Given the description of an element on the screen output the (x, y) to click on. 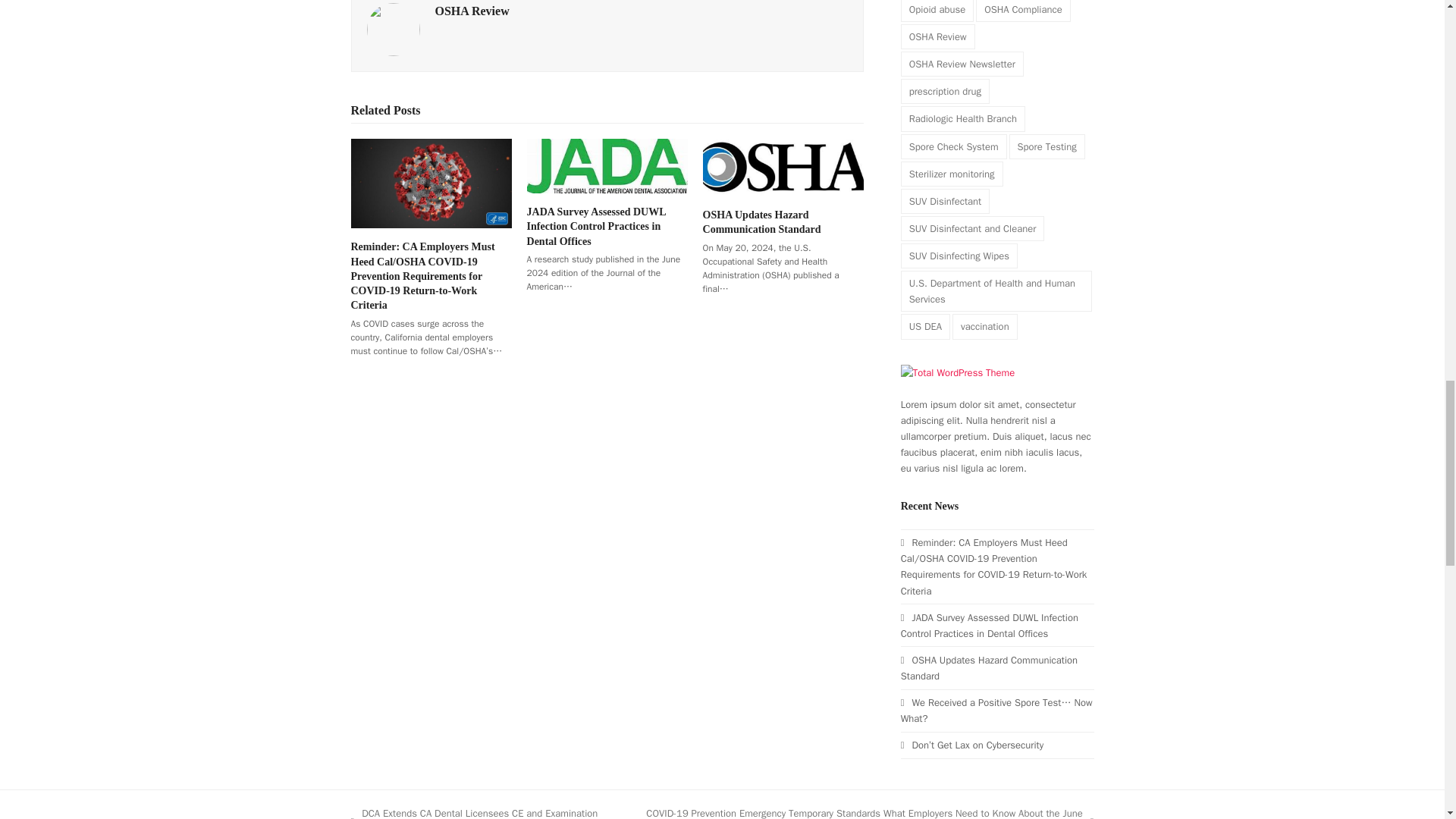
Visit Author Page (472, 10)
OSHA Updates Hazard Communication Standard (783, 165)
Visit Author Page (393, 28)
